Given the description of an element on the screen output the (x, y) to click on. 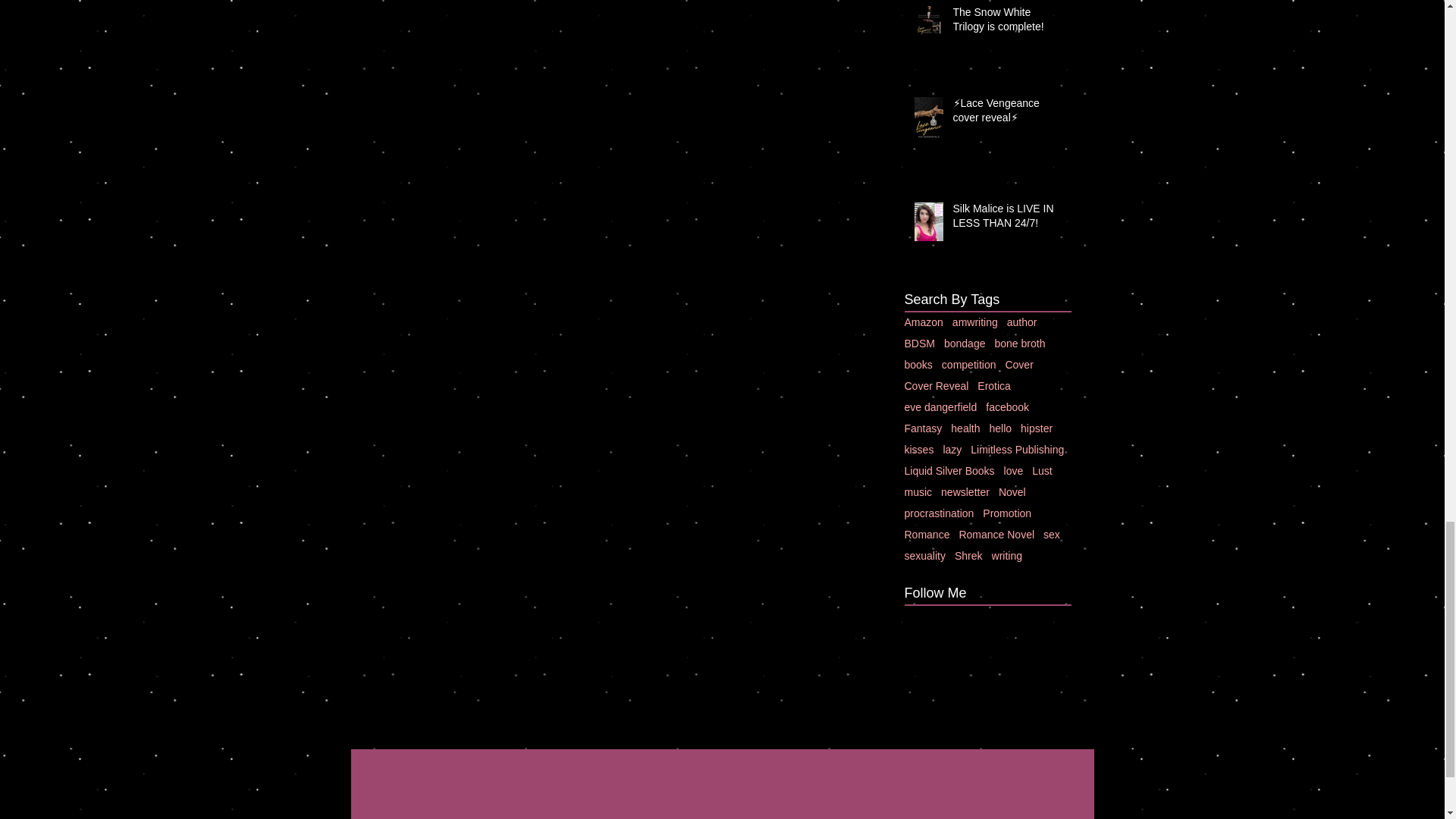
amwriting (974, 322)
books (917, 364)
Erotica (993, 386)
author (1021, 322)
bone broth (1019, 343)
bondage (964, 343)
Cover Reveal (936, 386)
Amazon (923, 322)
health (964, 428)
competition (968, 364)
